Given the description of an element on the screen output the (x, y) to click on. 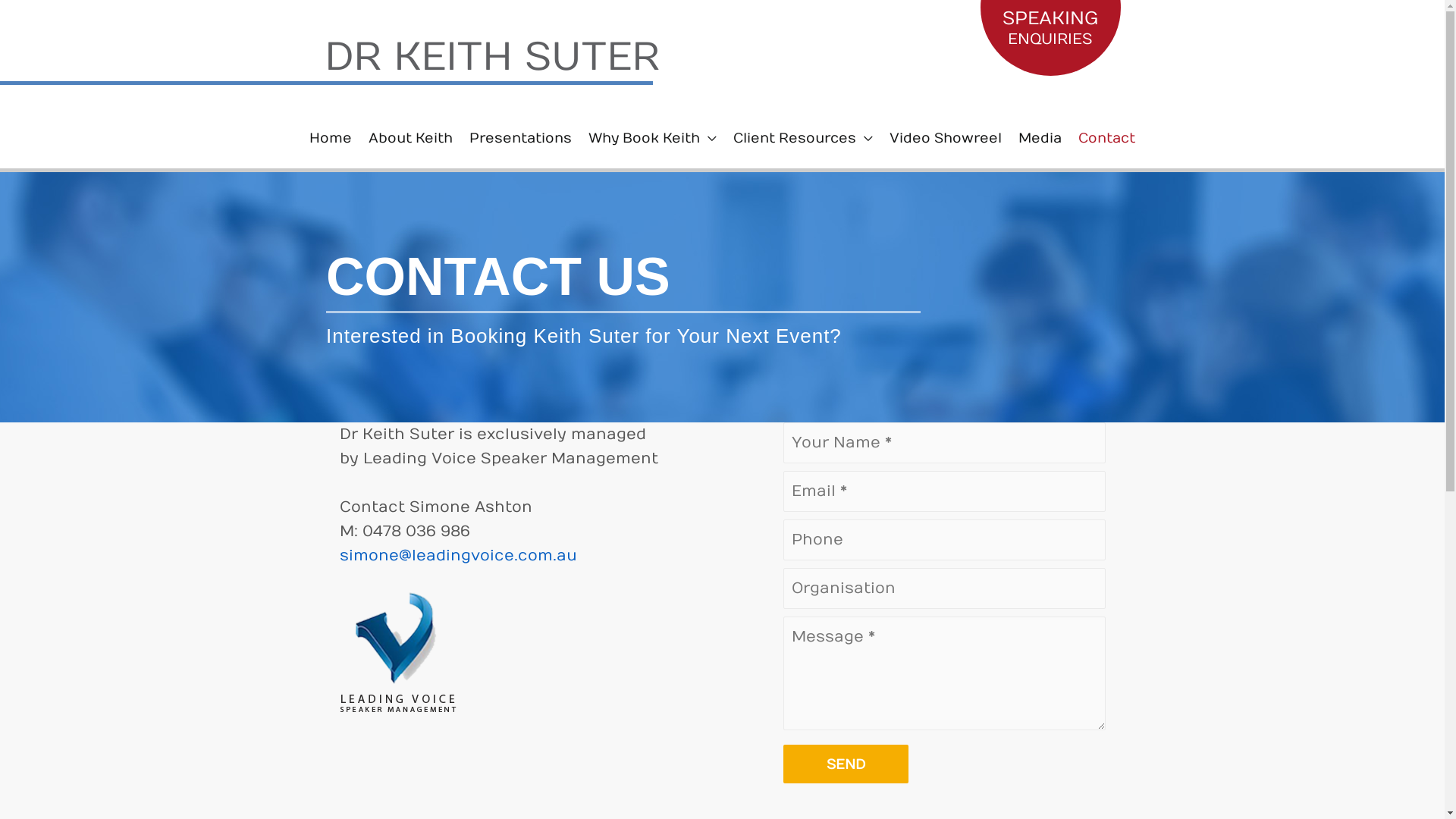
Presentations Element type: text (520, 138)
About Keith Element type: text (410, 138)
Client Resources Element type: text (802, 138)
simone@leadingvoice.com.au Element type: text (458, 555)
Home Element type: text (330, 138)
Contact Element type: text (1106, 138)
Media Element type: text (1040, 138)
Video Showreel Element type: text (945, 138)
DR KEITH SUTER Element type: text (491, 57)
Why Book Keith Element type: text (652, 138)
SEND Element type: text (844, 763)
